Given the description of an element on the screen output the (x, y) to click on. 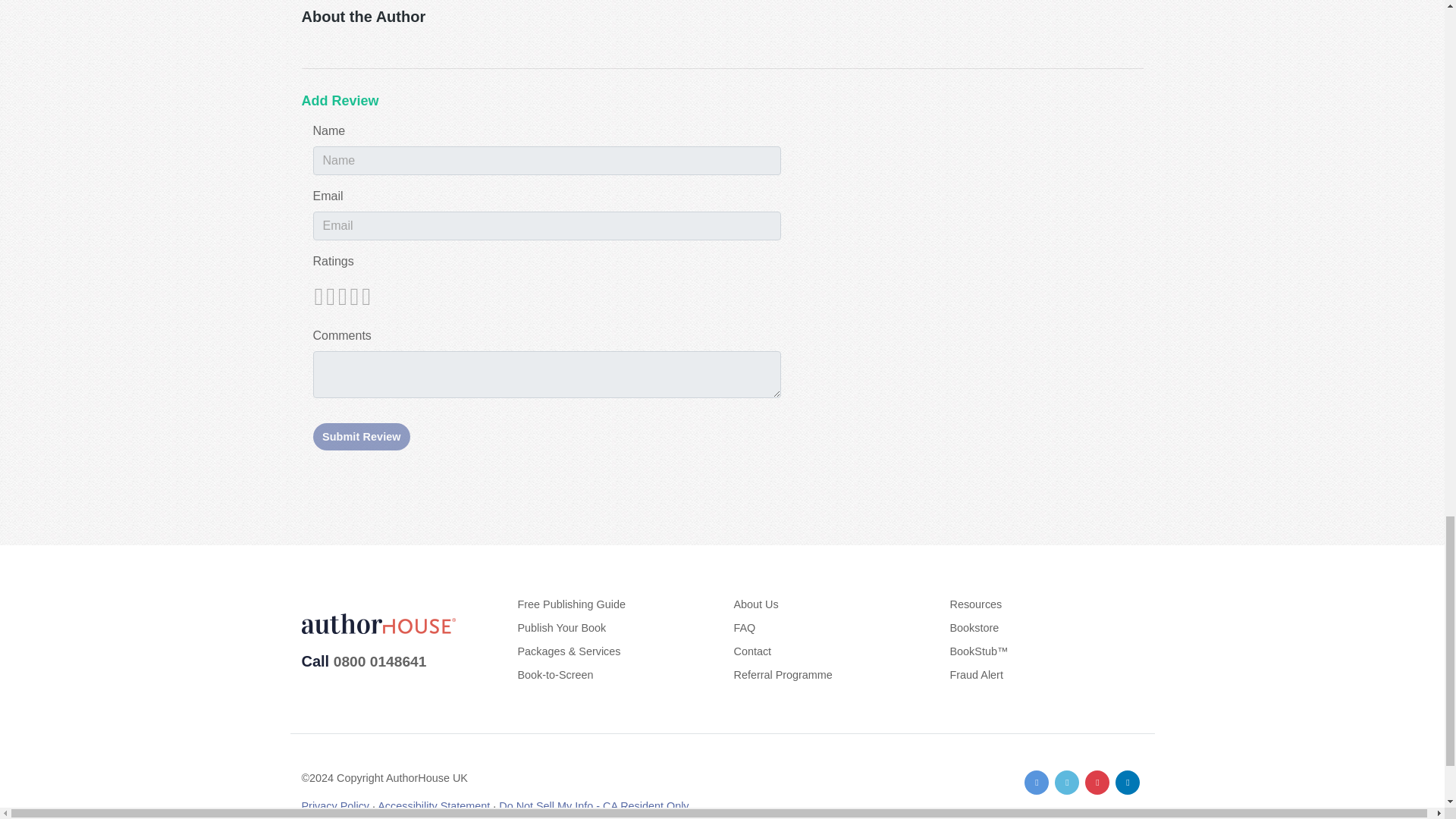
0800 0148641 (379, 661)
Book-to-Screen (554, 674)
Submit Review (361, 436)
Submit Review (361, 436)
Publish Your Book (560, 627)
Do Not Sell My Info - CA Resident Only (593, 806)
Not Rated (342, 296)
Free Publishing Guide (570, 604)
